Given the description of an element on the screen output the (x, y) to click on. 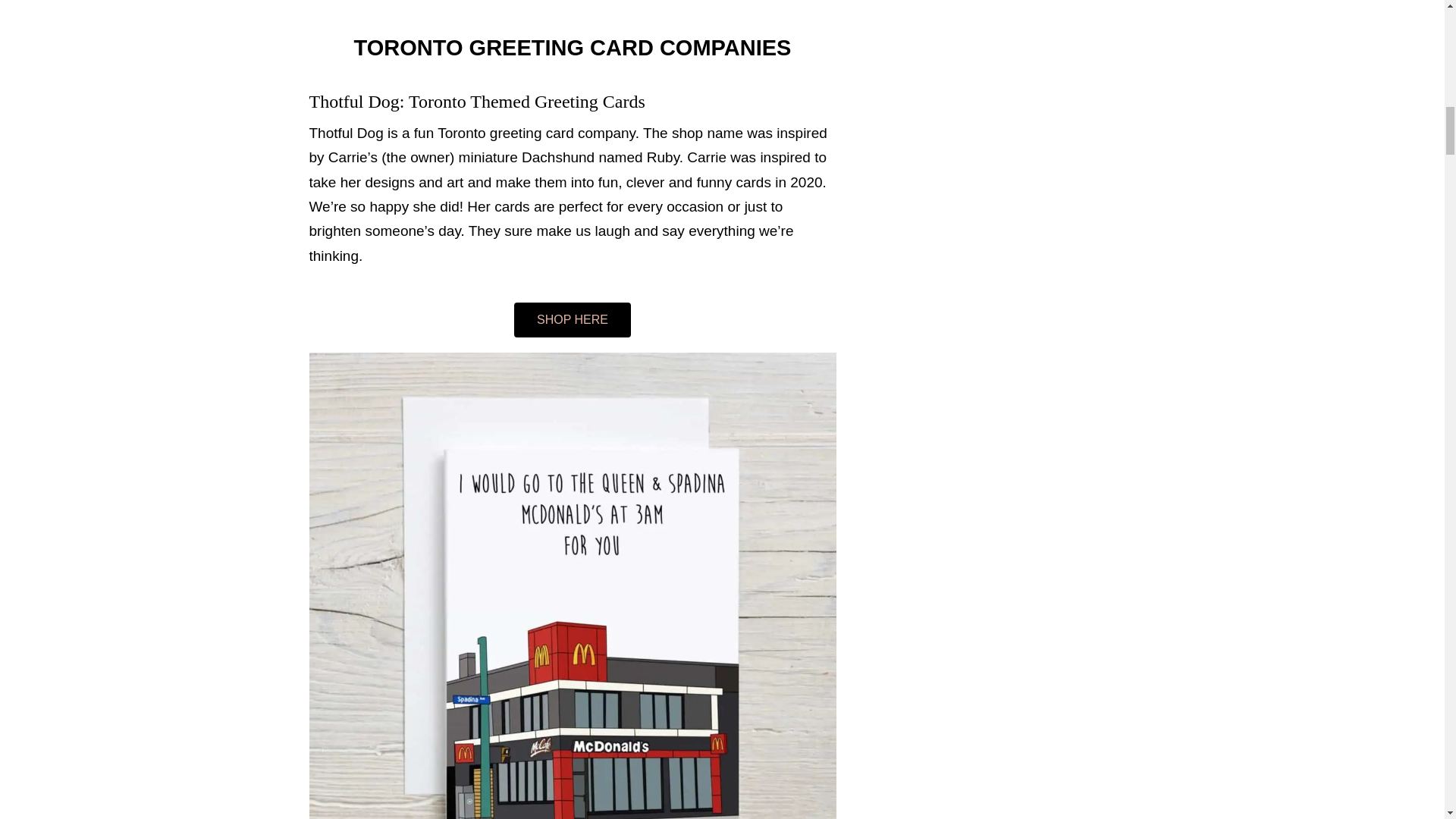
SHOP HERE (571, 319)
